Given the description of an element on the screen output the (x, y) to click on. 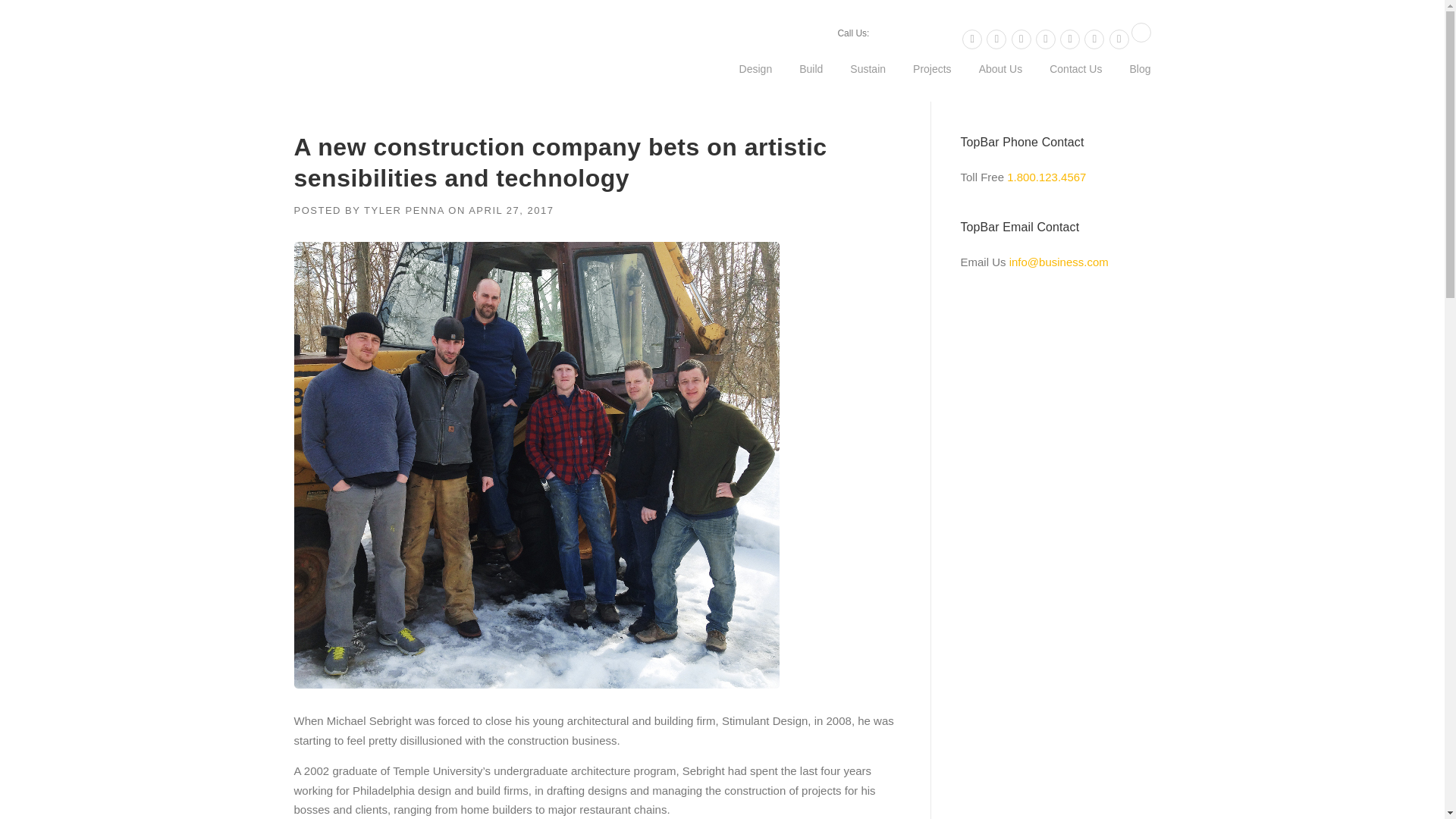
Build (810, 80)
TYLER PENNA (404, 210)
Projects (932, 80)
Twitter (971, 39)
Design (755, 80)
Sustain (867, 80)
Youtube (1093, 39)
Houzz (1141, 39)
Contact Us (1075, 80)
Instagram (1069, 39)
Pinterest (1045, 39)
267-214-0908 (911, 31)
APRIL 27, 2017 (510, 210)
Linkedin (1020, 39)
ICFbase (1119, 39)
